Given the description of an element on the screen output the (x, y) to click on. 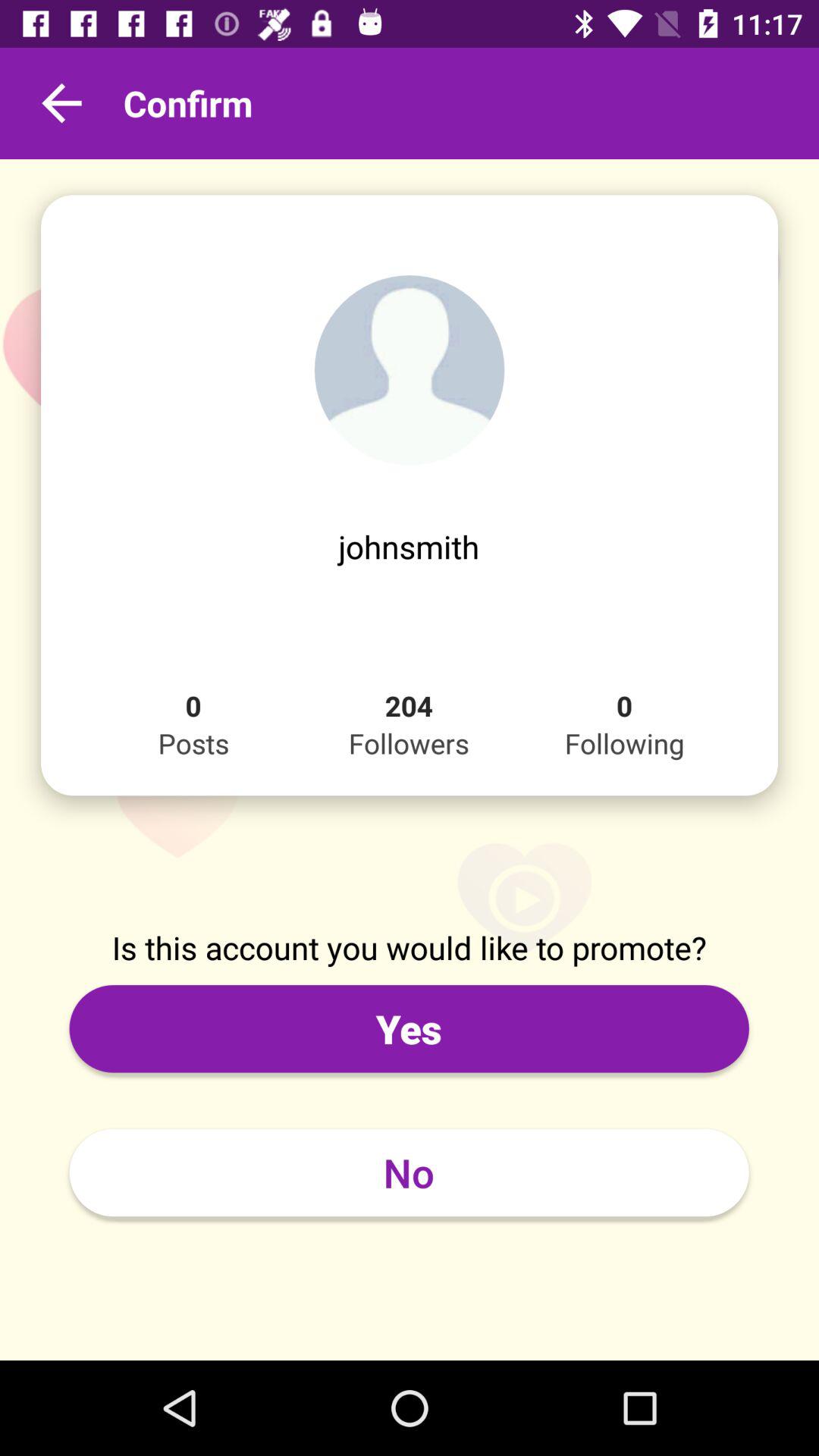
tap item above no item (409, 1028)
